Given the description of an element on the screen output the (x, y) to click on. 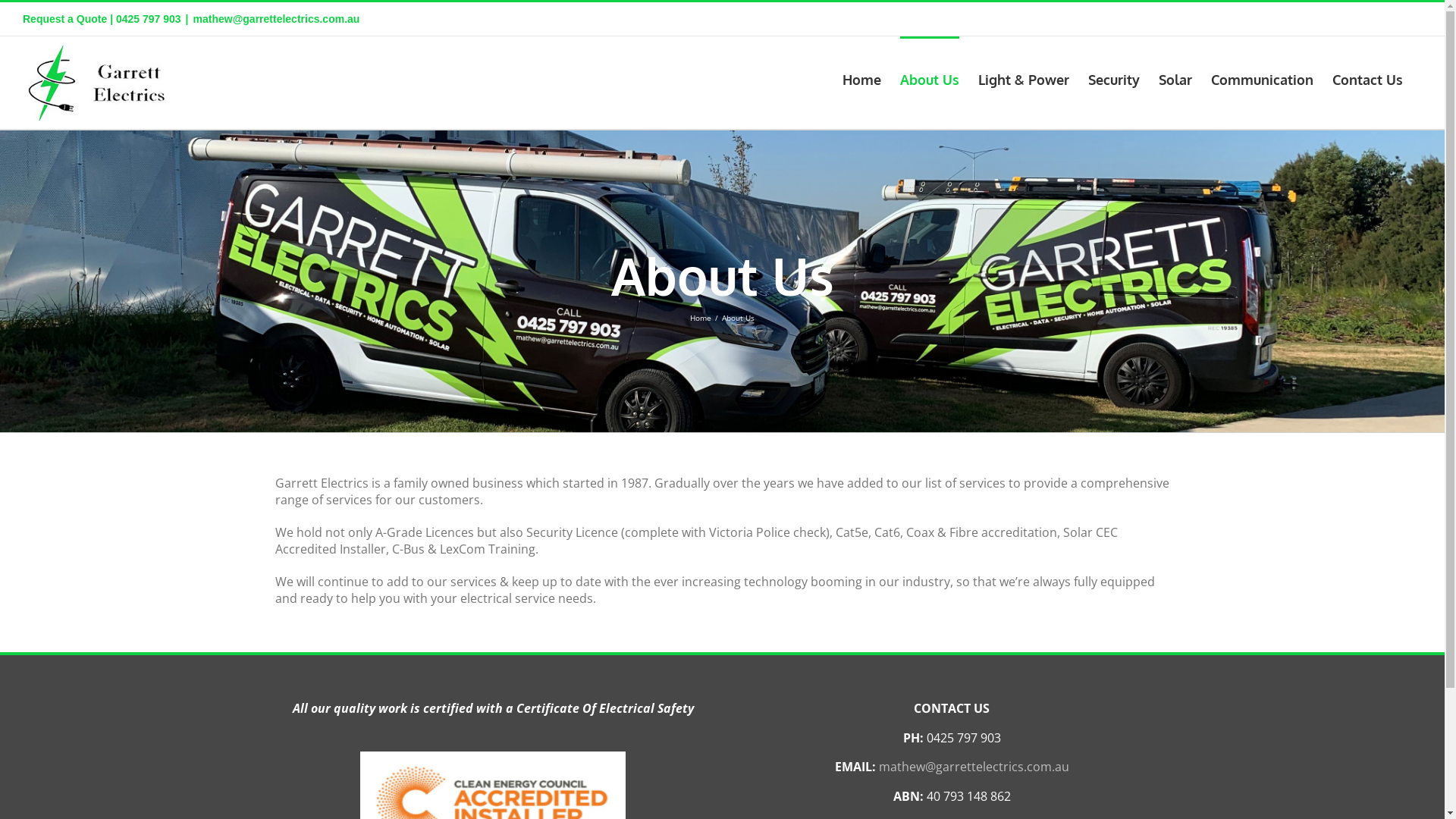
Home Element type: text (861, 77)
About Us Element type: text (929, 77)
Light & Power Element type: text (1023, 77)
Home Element type: text (700, 317)
Request a Quote Element type: text (64, 18)
0425 797 903 Element type: text (148, 18)
Communication Element type: text (1262, 77)
mathew@garrettelectrics.com.au Element type: text (973, 766)
Solar Element type: text (1175, 77)
mathew@garrettelectrics.com.au Element type: text (276, 18)
Contact Us Element type: text (1367, 77)
Security Element type: text (1113, 77)
